Given the description of an element on the screen output the (x, y) to click on. 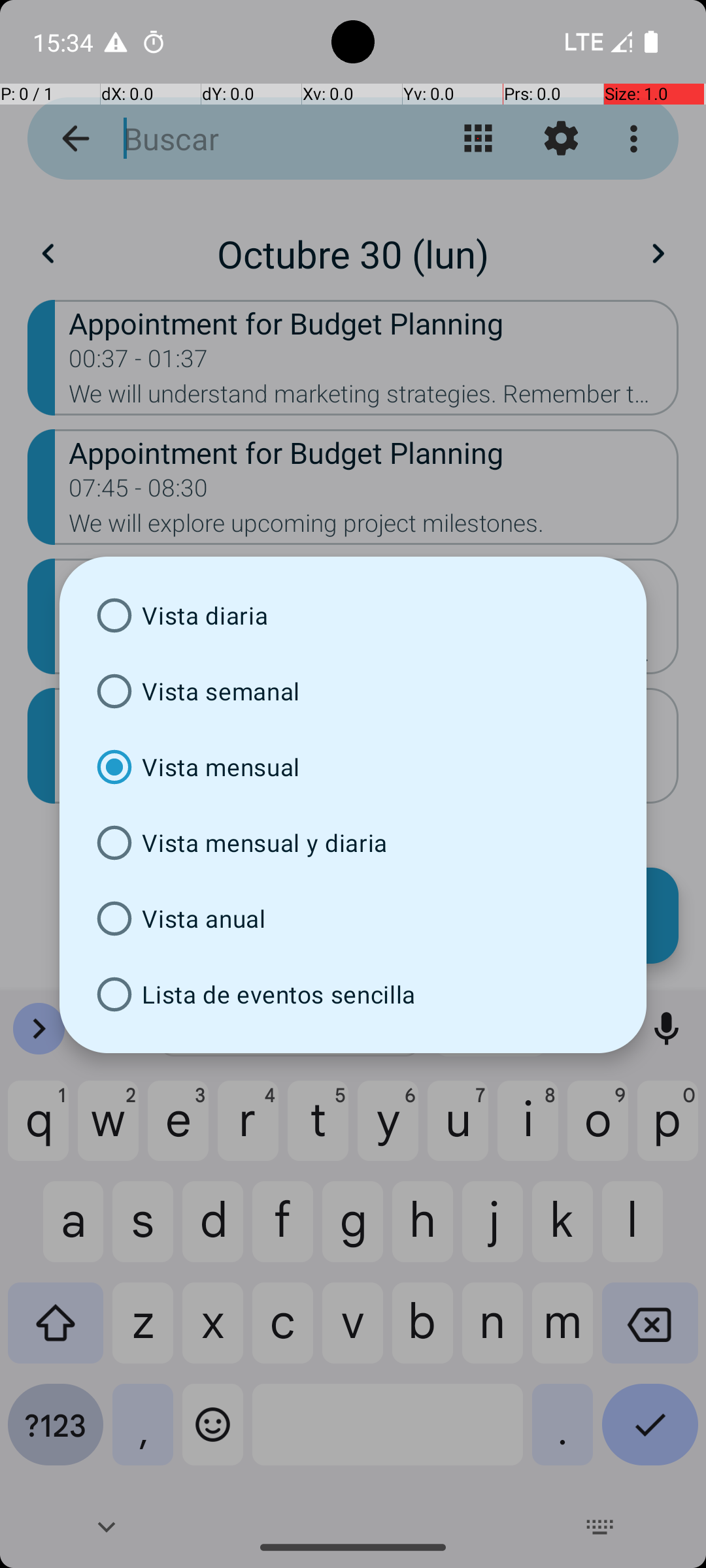
Vista diaria Element type: android.widget.RadioButton (352, 615)
Vista semanal Element type: android.widget.RadioButton (352, 691)
Vista mensual Element type: android.widget.RadioButton (352, 766)
Vista mensual y diaria Element type: android.widget.RadioButton (352, 842)
Vista anual Element type: android.widget.RadioButton (352, 918)
Lista de eventos sencilla Element type: android.widget.RadioButton (352, 994)
